Given the description of an element on the screen output the (x, y) to click on. 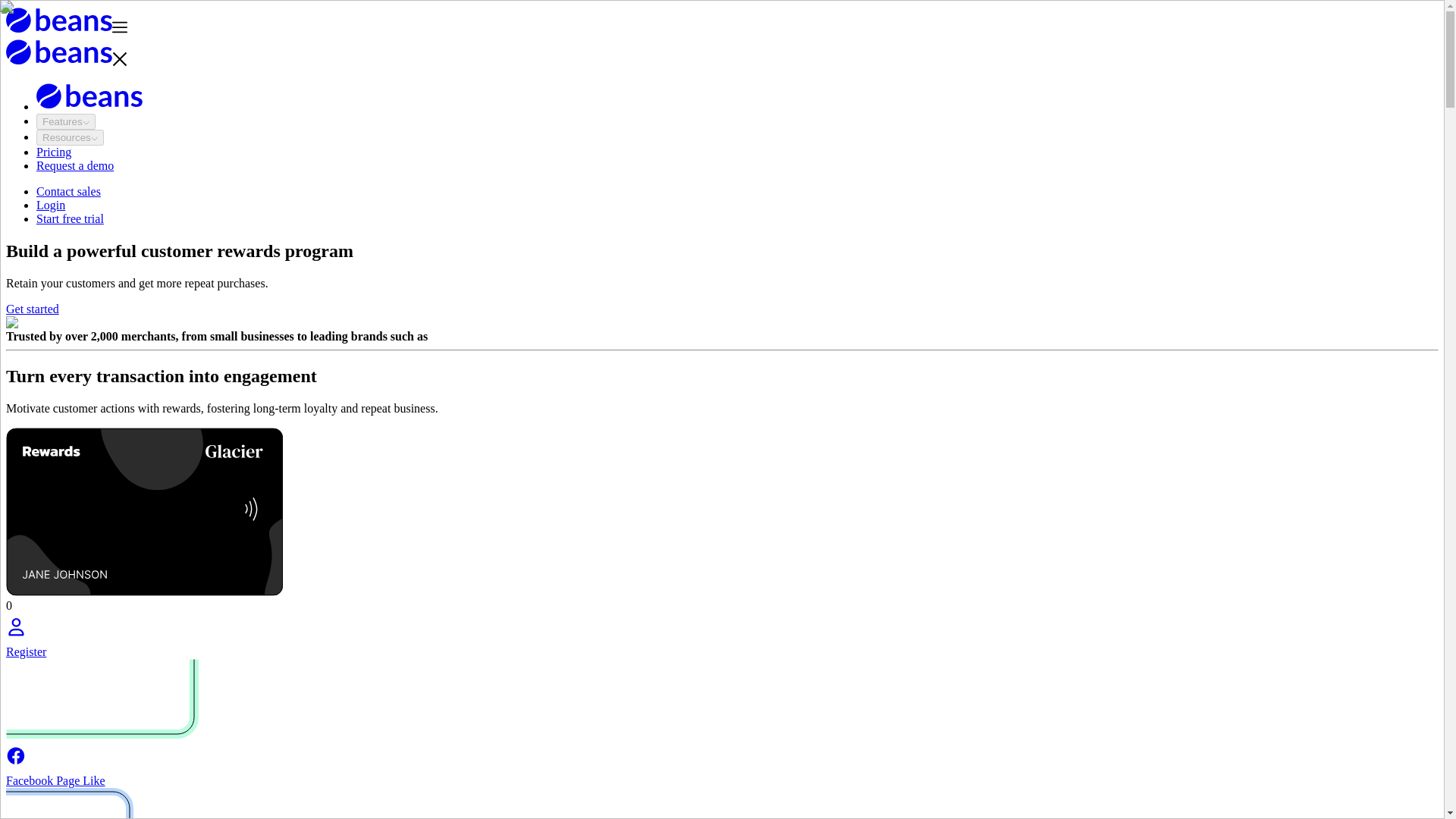
Pricing (53, 151)
Request a demo (74, 164)
Start free trial (69, 218)
Get started (32, 308)
Login (50, 205)
Features (66, 121)
Contact sales (68, 191)
Resources (69, 137)
